Given the description of an element on the screen output the (x, y) to click on. 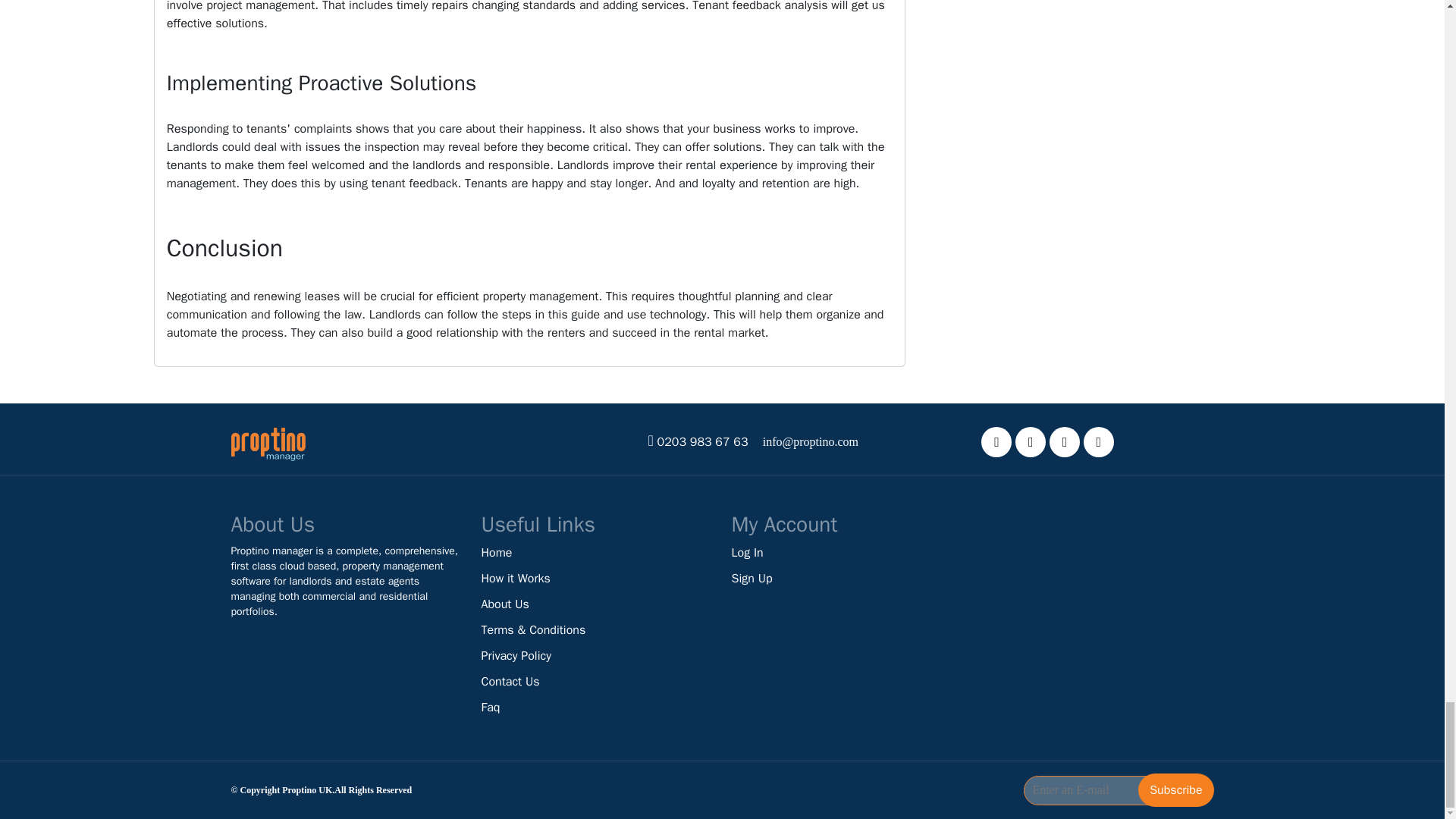
0203 983 67 63 (703, 441)
Subscribe (1175, 789)
